Given the description of an element on the screen output the (x, y) to click on. 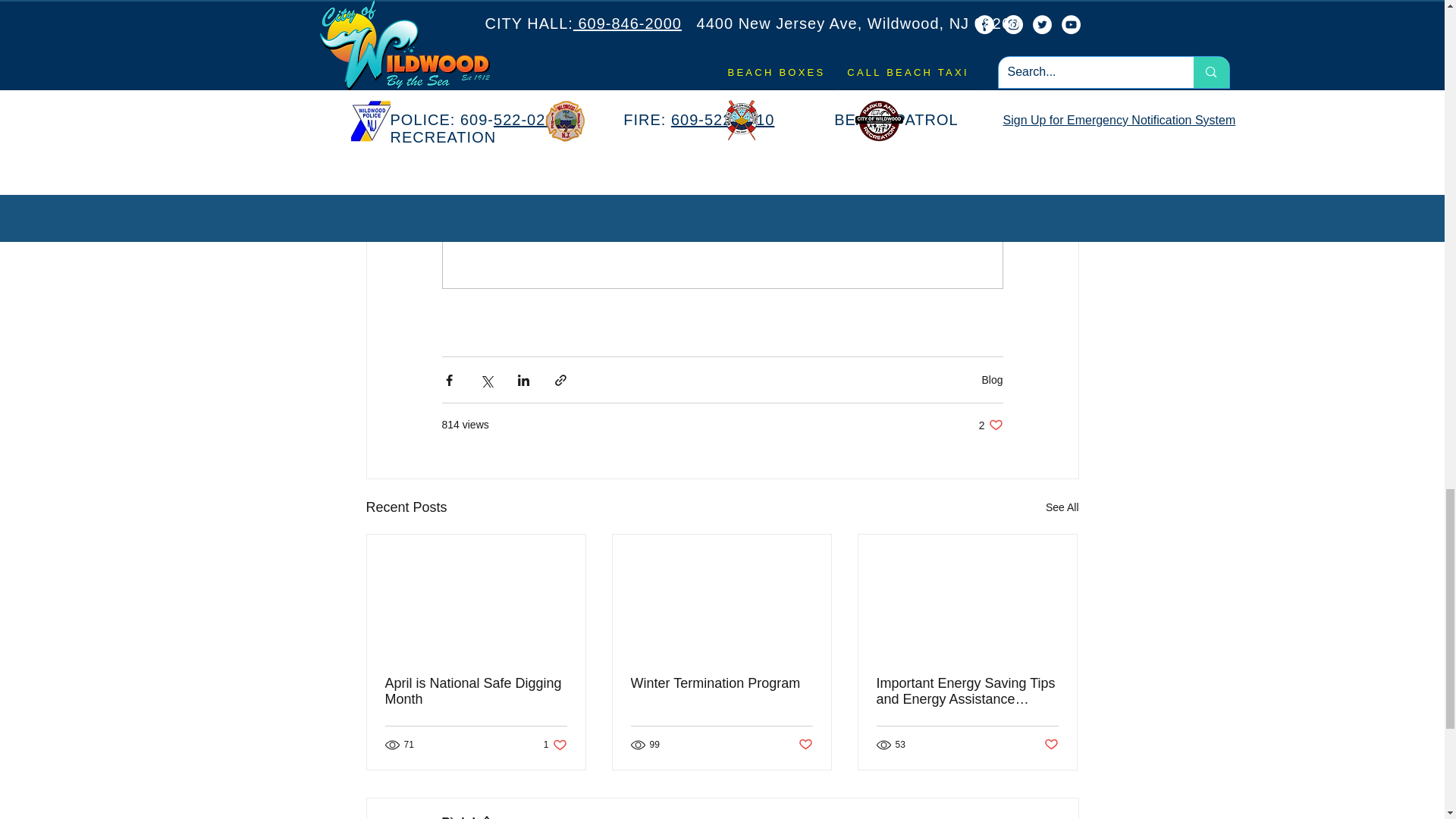
Blog (992, 378)
See All (1061, 507)
